Given the description of an element on the screen output the (x, y) to click on. 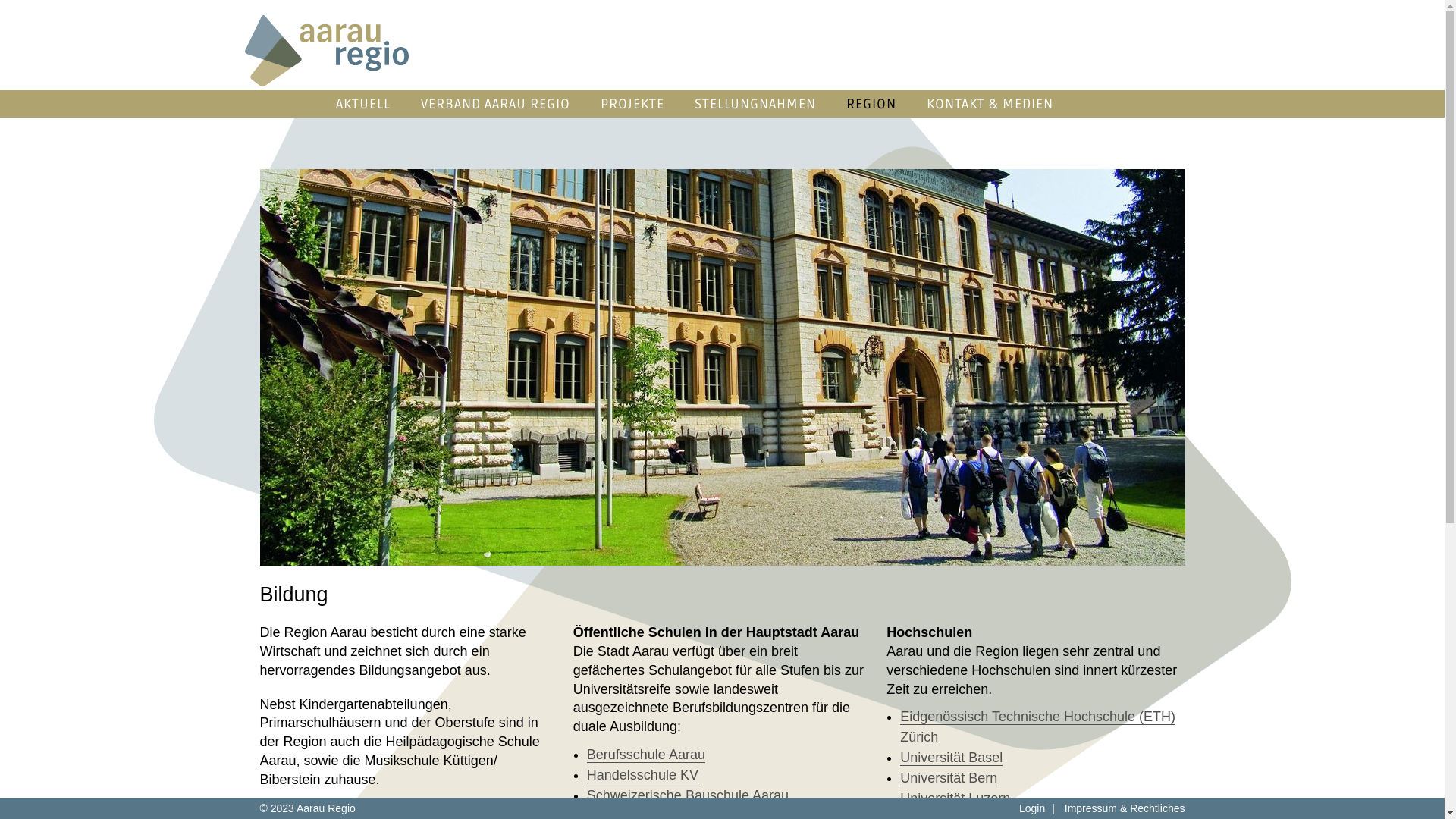
VERBAND AARAU REGIO Element type: text (494, 103)
AKTUELL Element type: text (362, 103)
Login Element type: text (1031, 808)
PROJEKTE Element type: text (632, 103)
Schweizerische Bauschule Aarau Element type: text (687, 795)
STELLUNGNAHMEN Element type: text (755, 103)
KONTAKT & MEDIEN Element type: text (989, 103)
Impressum & Rechtliches Element type: text (1124, 808)
Handelsschule KV Element type: text (642, 775)
Alte Kantonsschule Aarau Element type: hover (721, 367)
REGION Element type: text (871, 103)
Berufsschule Aarau Element type: text (645, 754)
